Given the description of an element on the screen output the (x, y) to click on. 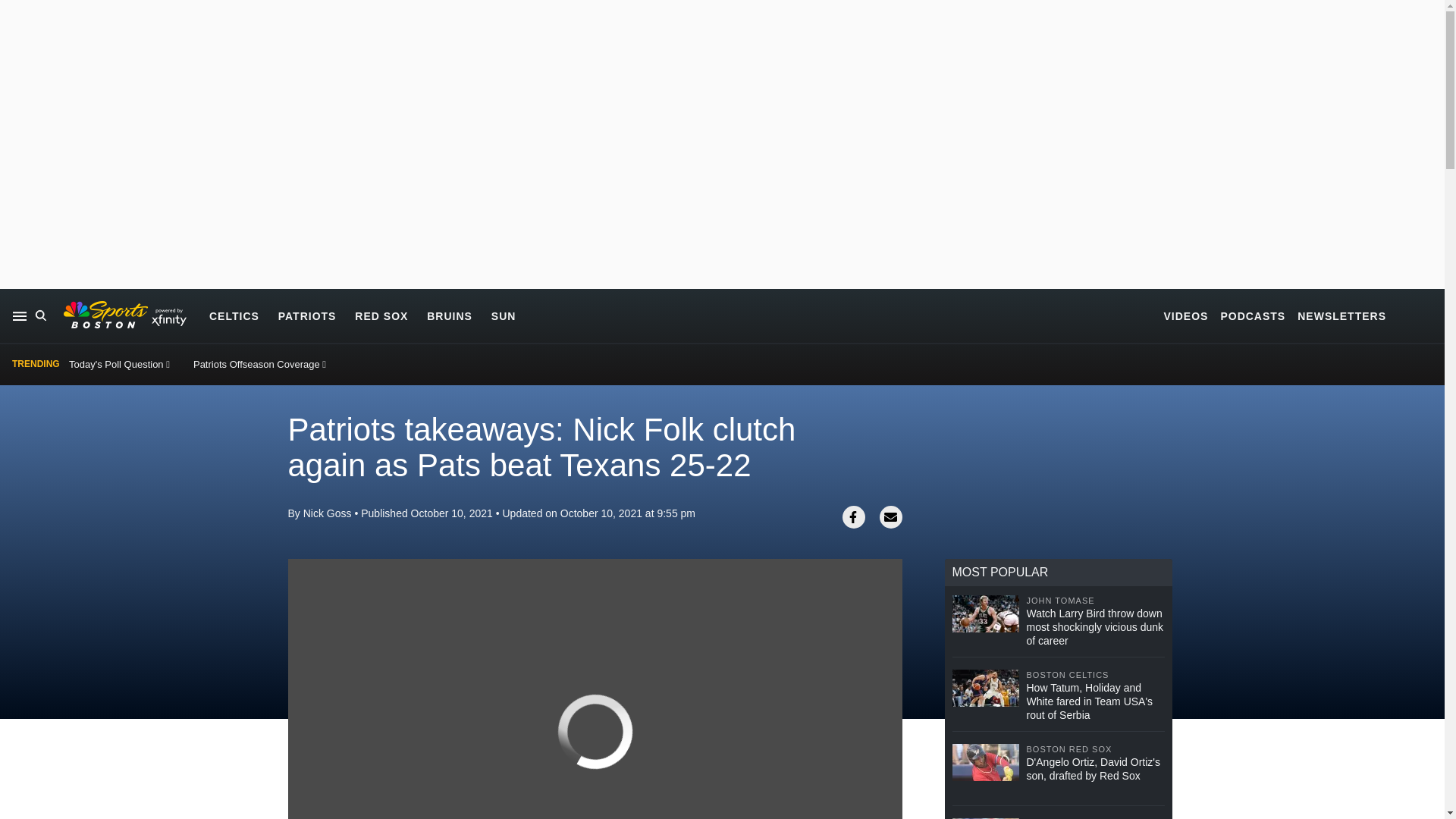
PATRIOTS (307, 315)
CELTICS (234, 315)
VIDEOS (1185, 315)
SUN (504, 315)
PODCASTS (1252, 315)
BRUINS (448, 315)
RED SOX (381, 315)
NEWSLETTERS (1341, 315)
Nick Goss (327, 512)
